Given the description of an element on the screen output the (x, y) to click on. 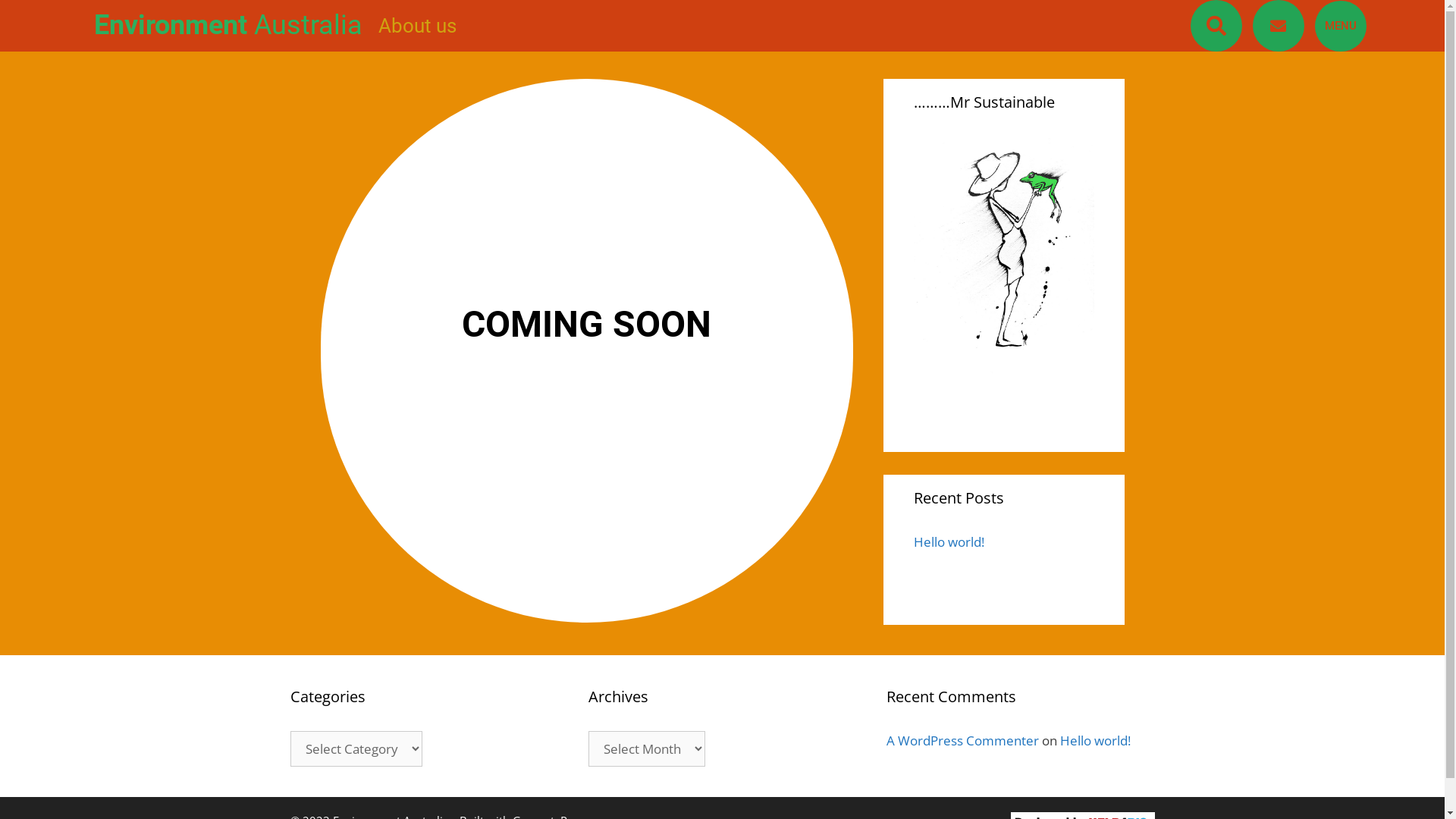
Hello world! Element type: text (948, 541)
The Sustainable Guy Element type: hover (1003, 256)
Hello world! Element type: text (1095, 740)
MENU Element type: text (1340, 25)
A WordPress Commenter Element type: text (962, 740)
